Given the description of an element on the screen output the (x, y) to click on. 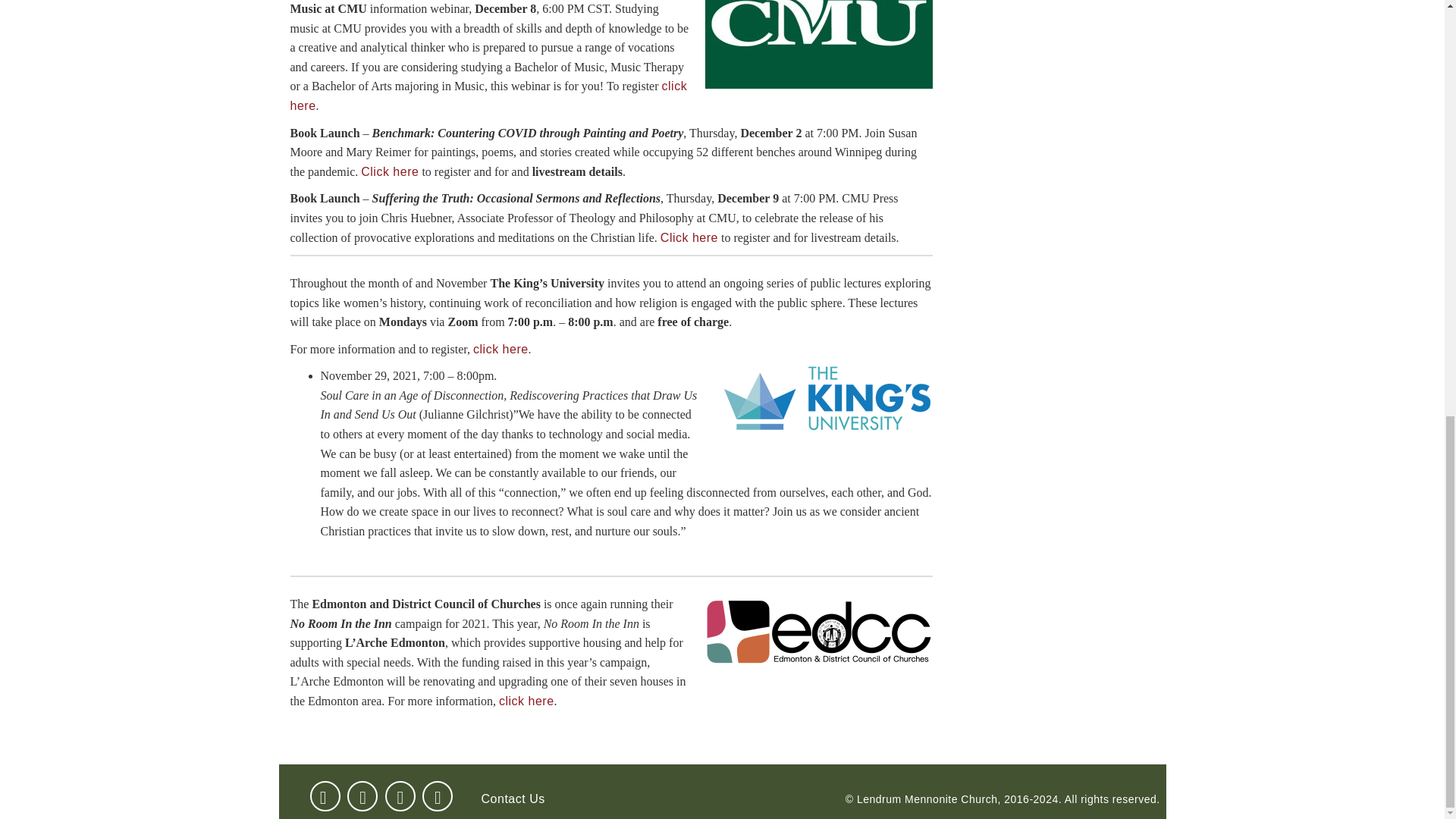
Click here (390, 171)
click here (526, 700)
Click here (689, 237)
twitter (403, 795)
Contact Us (515, 797)
youtube (365, 795)
click here (488, 95)
facebook (327, 795)
instagram (437, 795)
click here (500, 349)
